Given the description of an element on the screen output the (x, y) to click on. 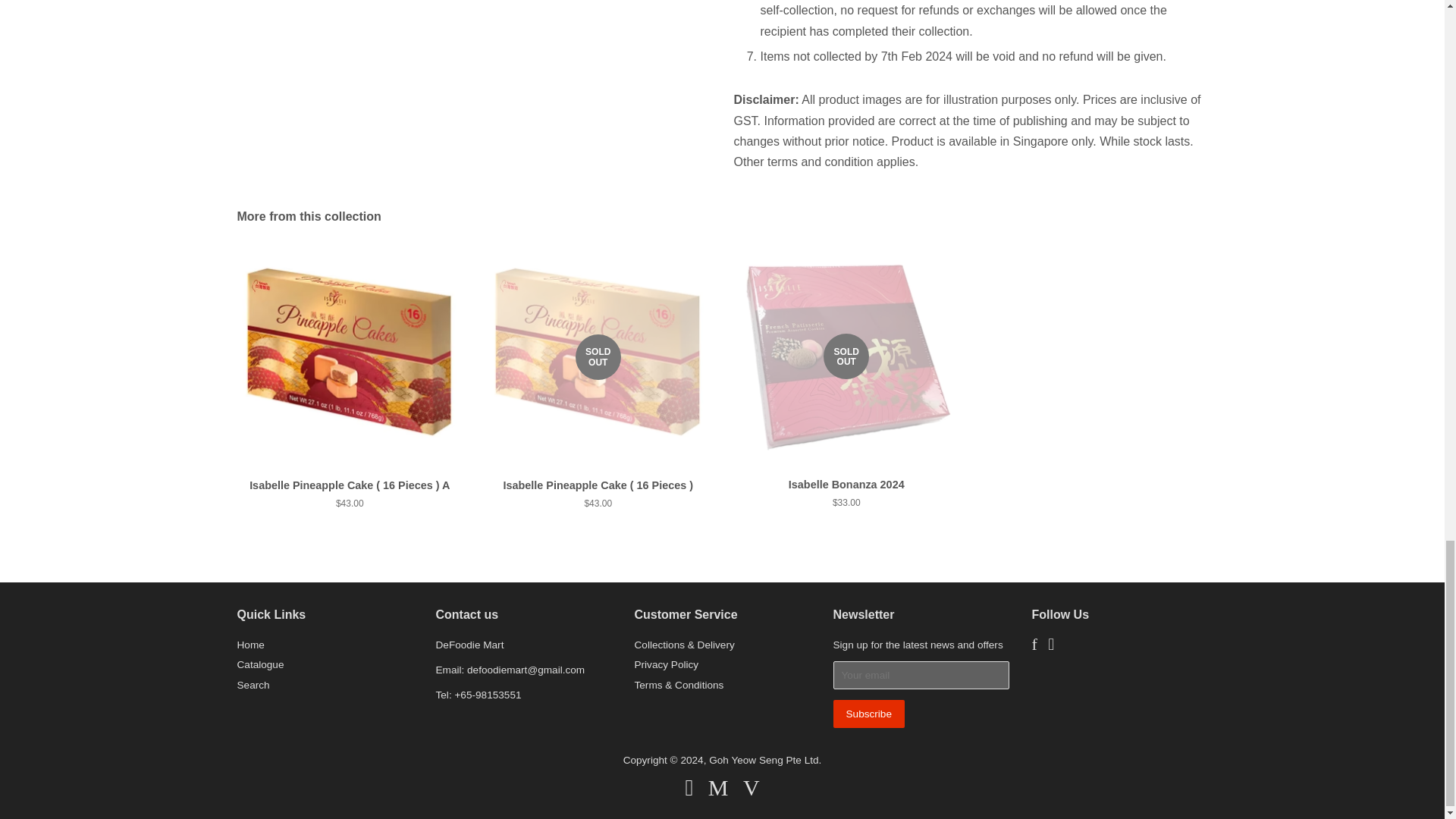
Home (249, 644)
Catalogue (259, 664)
Goh Yeow Seng Pte Ltd (763, 759)
Search (252, 685)
Subscribe (868, 714)
Subscribe (868, 714)
Privacy Policy (665, 664)
